Given the description of an element on the screen output the (x, y) to click on. 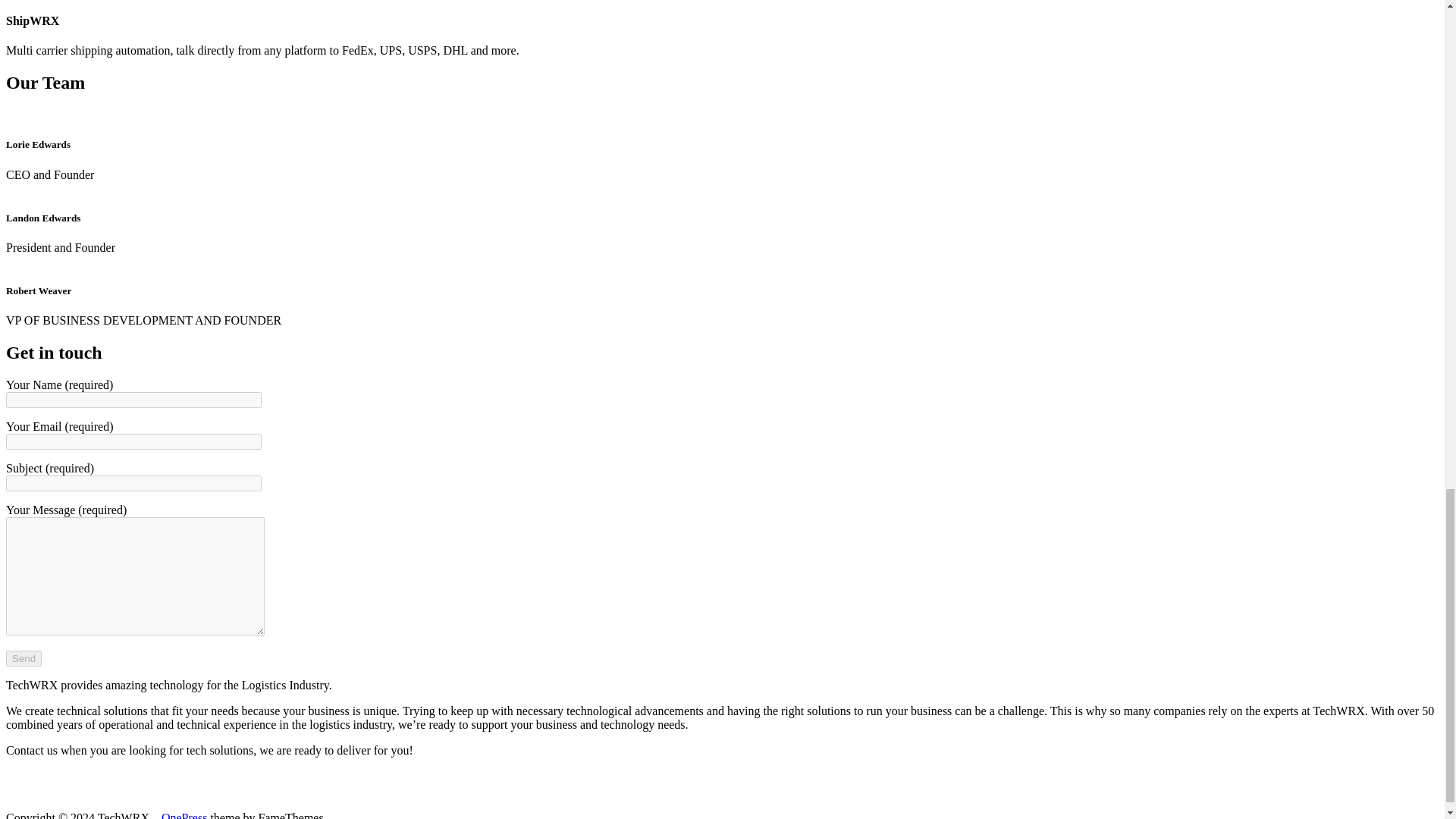
Send (23, 658)
Send (23, 658)
